Given the description of an element on the screen output the (x, y) to click on. 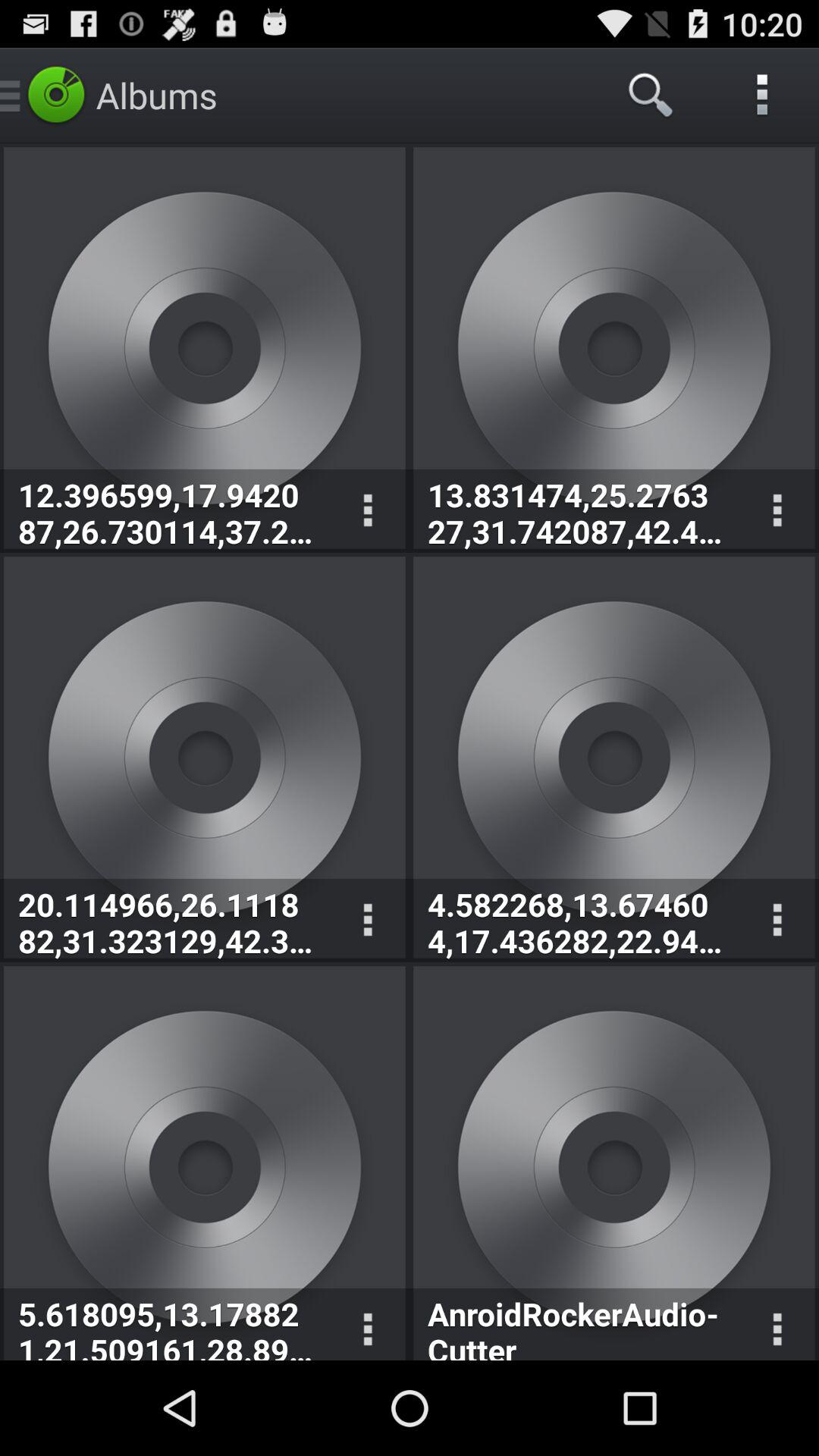
displays option menu for corresponding album (367, 510)
